Given the description of an element on the screen output the (x, y) to click on. 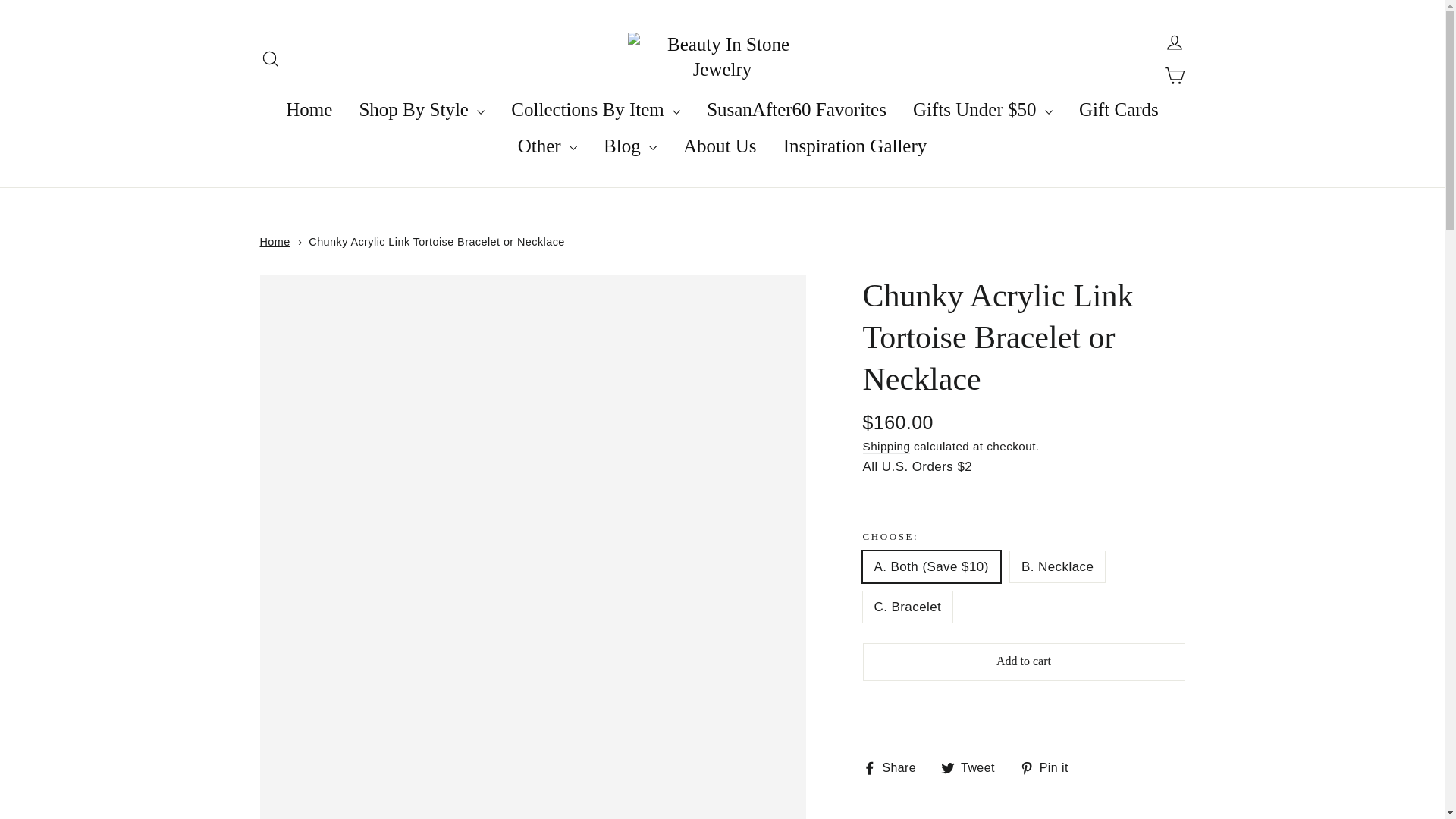
Pin on Pinterest (1050, 767)
Home (274, 241)
Tweet on Twitter (973, 767)
Share on Facebook (895, 767)
